Given the description of an element on the screen output the (x, y) to click on. 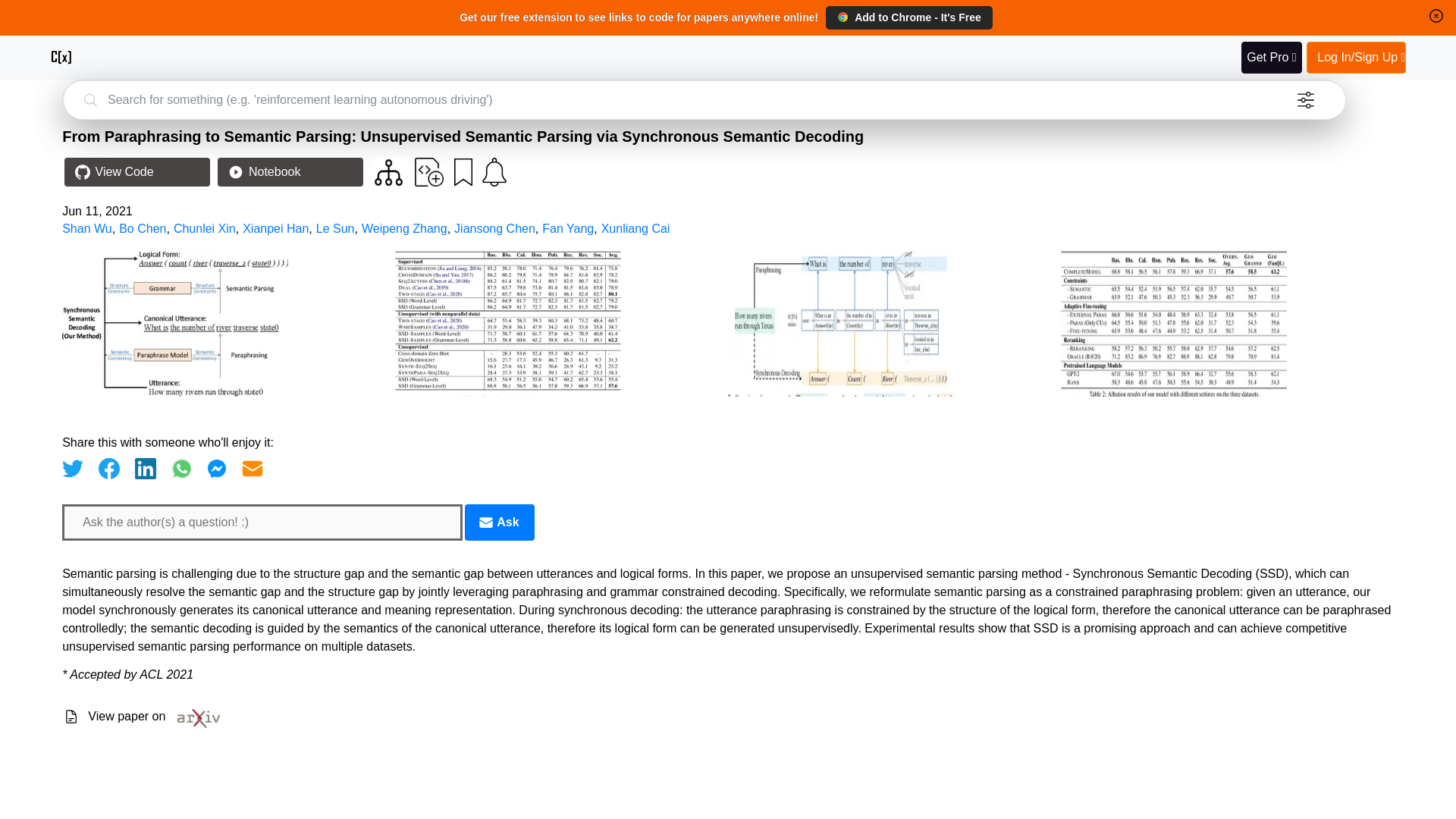
Fan Yang (567, 228)
View Code (136, 172)
Email Icon Ask (499, 522)
View code for similar papers (388, 171)
Share via Email (252, 468)
Bo Chen (142, 228)
Contribute your code for this paper to the community (429, 172)
Ask any Qs from the author (499, 522)
Email Icon (486, 522)
Le Sun (335, 228)
Jiansong Chen (494, 228)
Chunlei Xin (204, 228)
Weipeng Zhang (403, 228)
Shan Wu (87, 228)
Xianpei Han (275, 228)
